Given the description of an element on the screen output the (x, y) to click on. 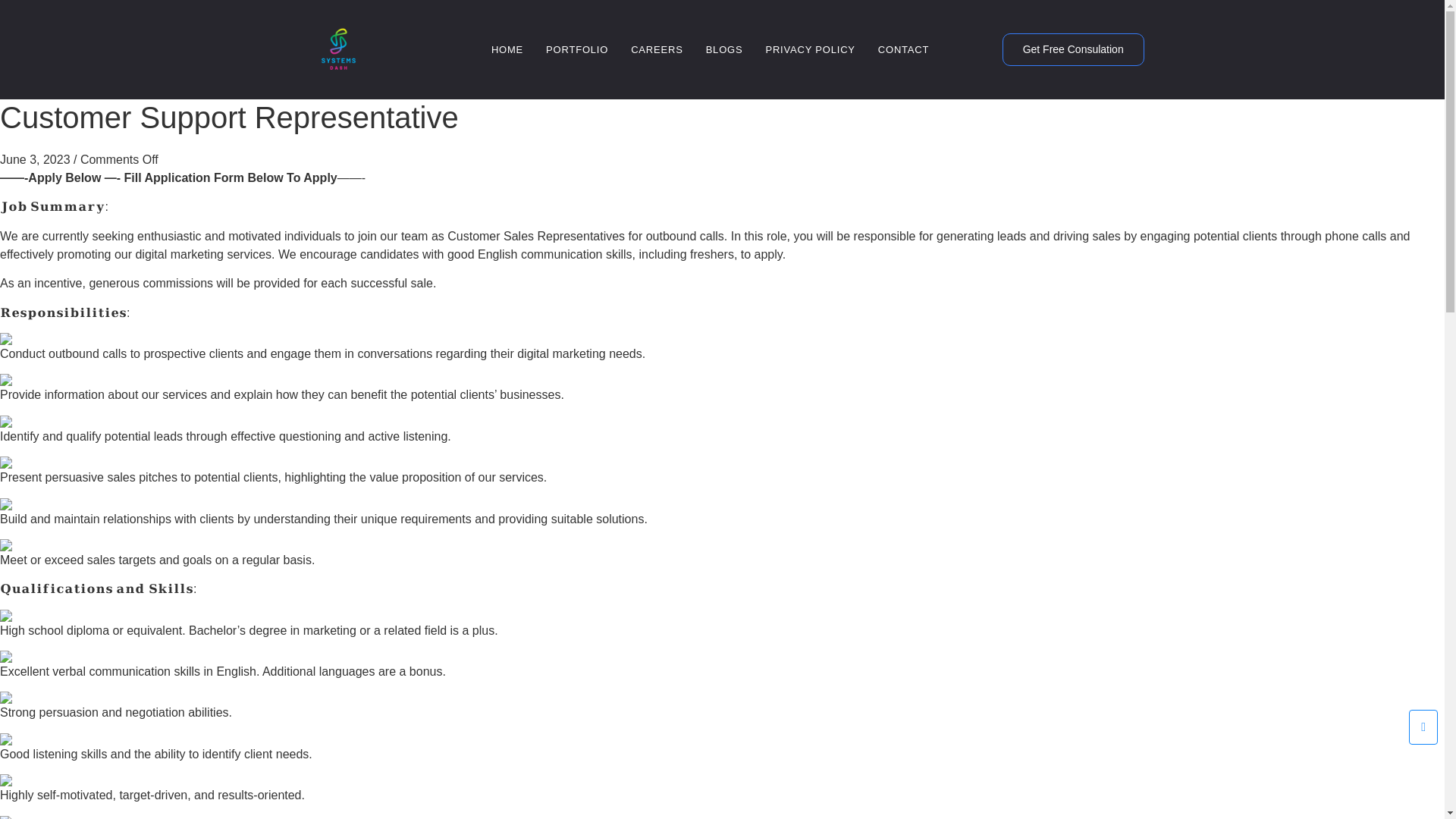
PRIVACY POLICY (809, 49)
Get Free Consulation (1073, 49)
HOME (507, 49)
CAREERS (656, 49)
PORTFOLIO (577, 49)
CONTACT (902, 49)
BLOGS (724, 49)
